Given the description of an element on the screen output the (x, y) to click on. 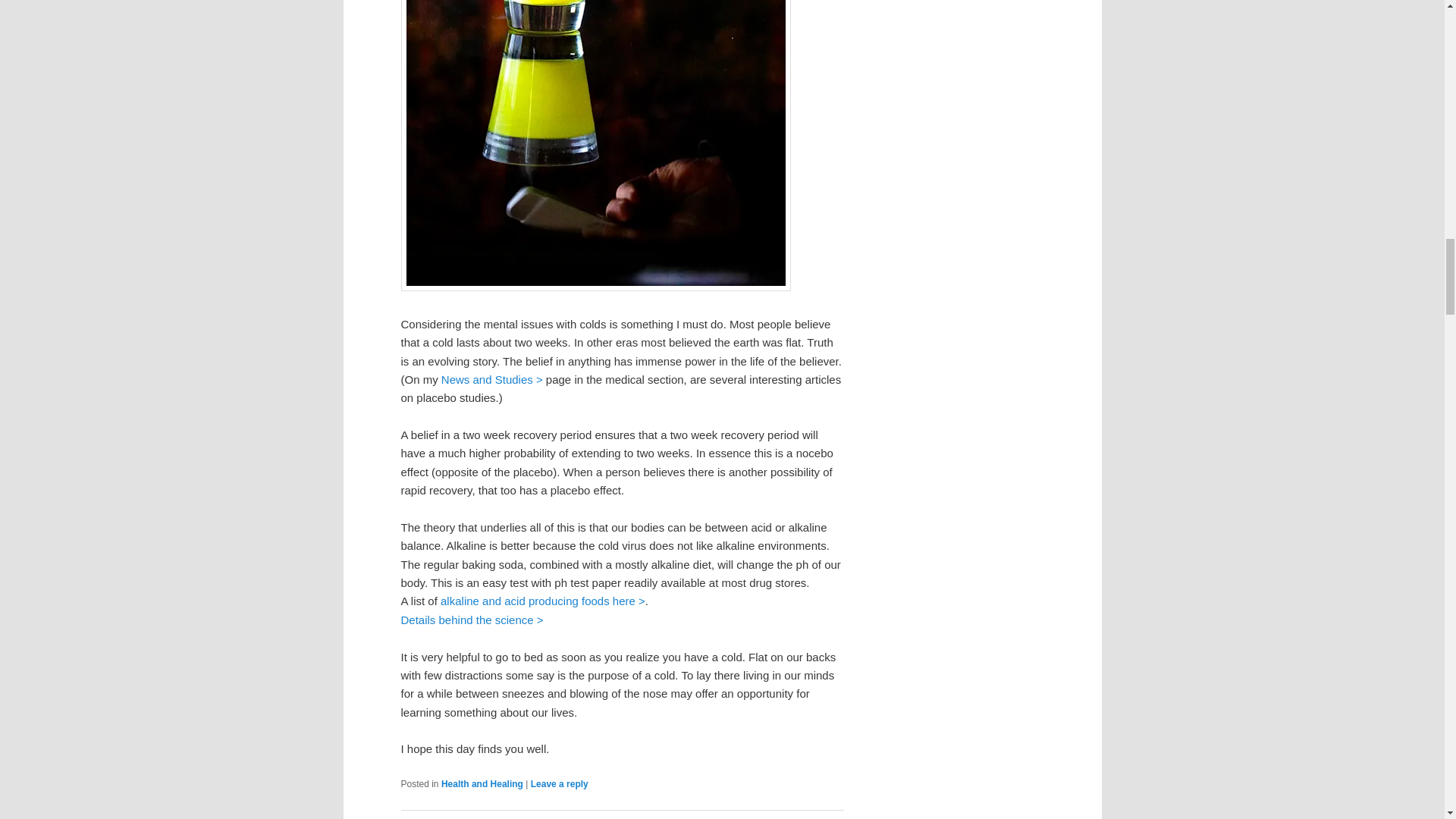
Leave a reply (559, 783)
Health and Healing (481, 783)
